Given the description of an element on the screen output the (x, y) to click on. 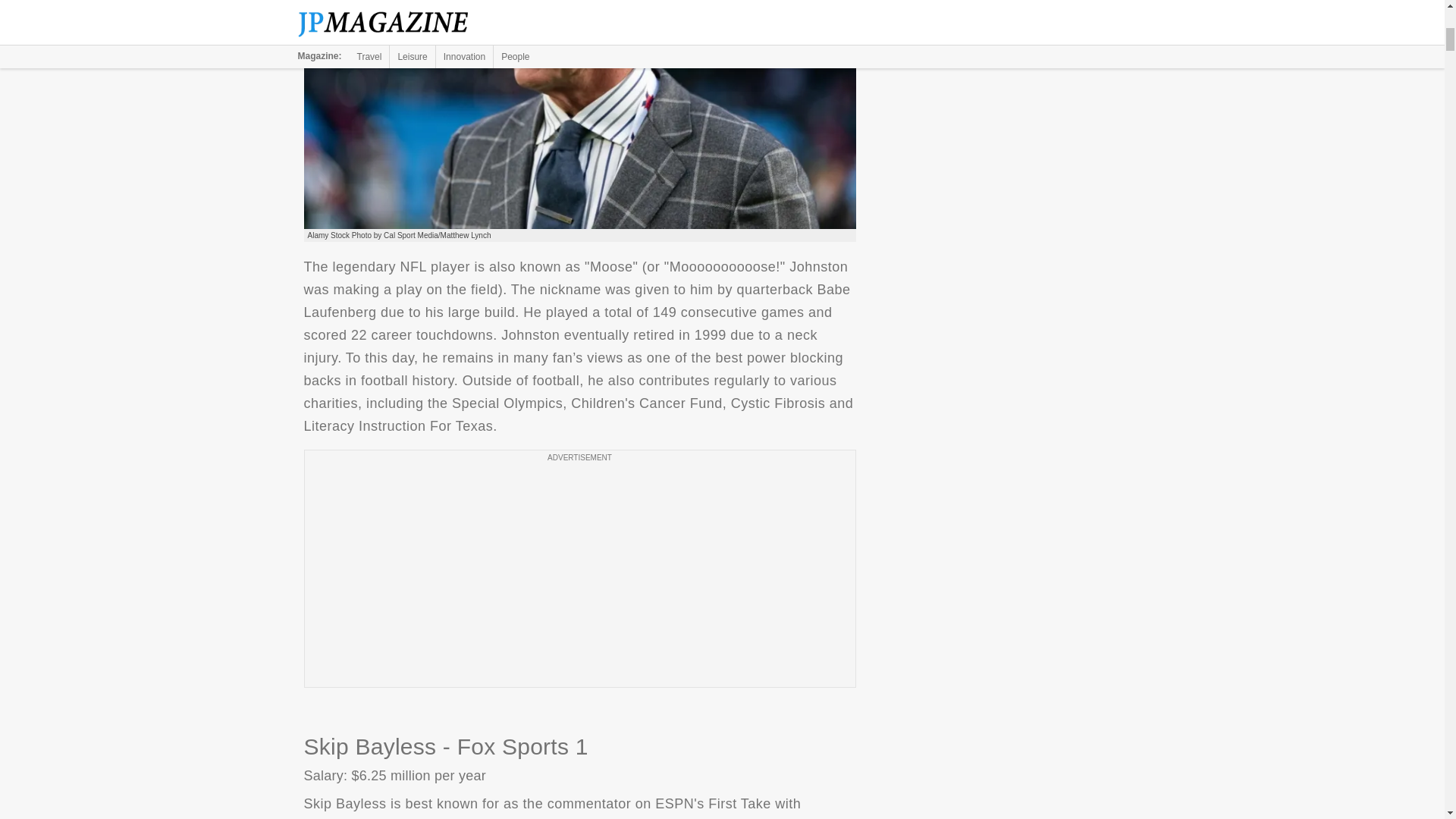
Daryl Johnston - Fox (579, 115)
